Given the description of an element on the screen output the (x, y) to click on. 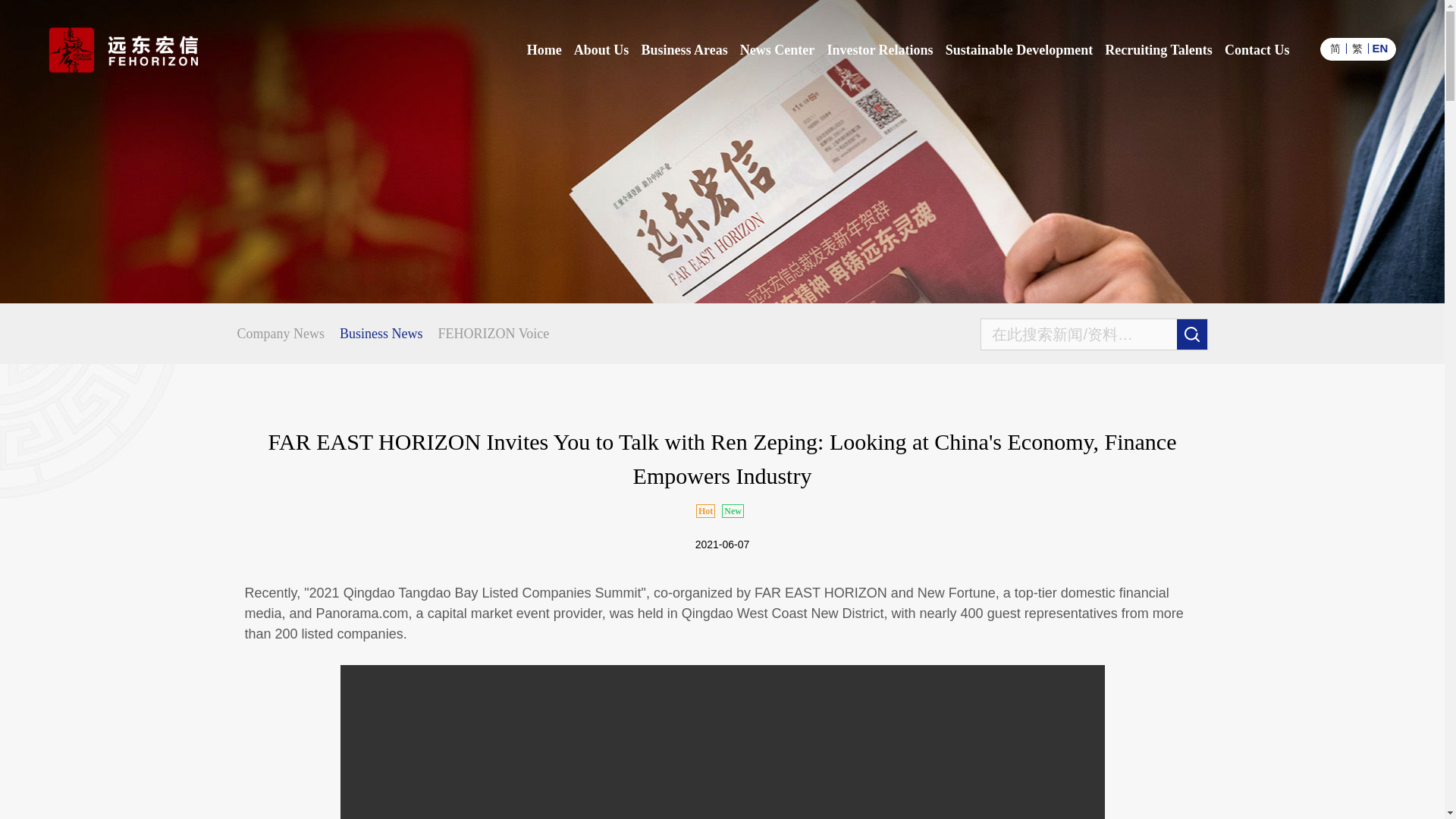
Business Areas (685, 50)
About Us (600, 50)
Investor Relations (880, 50)
Sustainable Development (1018, 50)
Contact Us (1257, 50)
Recruiting Talents (1158, 50)
News Center (776, 50)
EN (1379, 48)
